Given the description of an element on the screen output the (x, y) to click on. 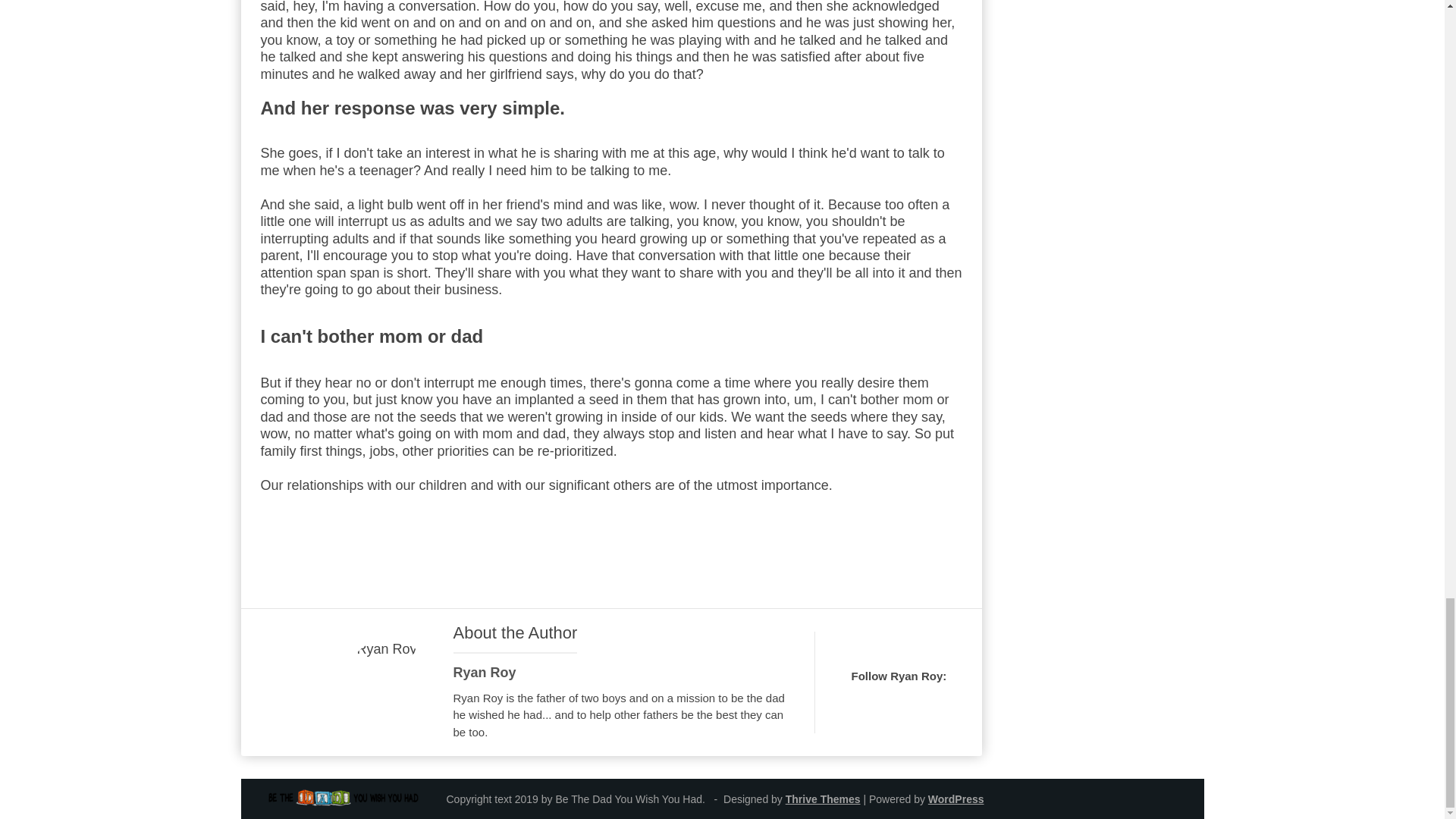
Ryan Roy (484, 672)
